Given the description of an element on the screen output the (x, y) to click on. 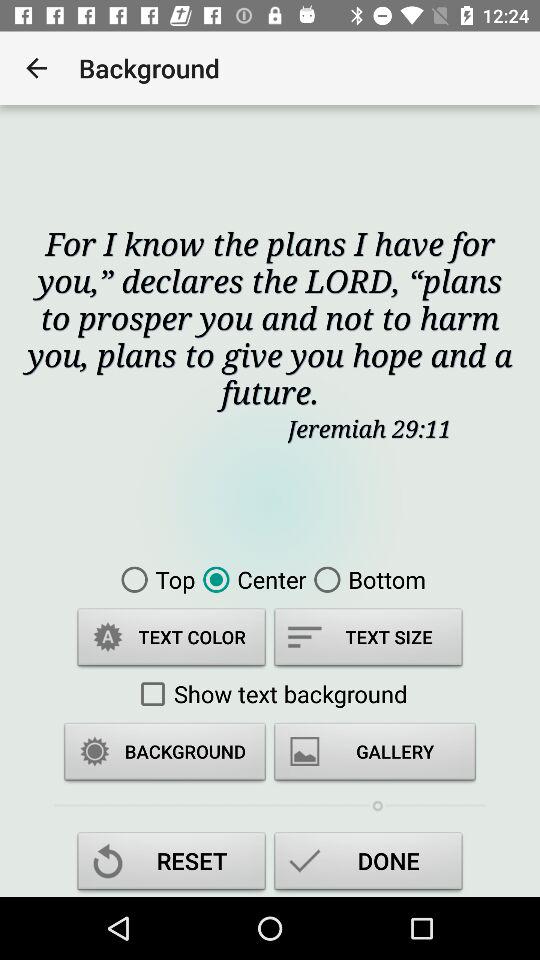
turn on the icon next to text color (368, 640)
